Given the description of an element on the screen output the (x, y) to click on. 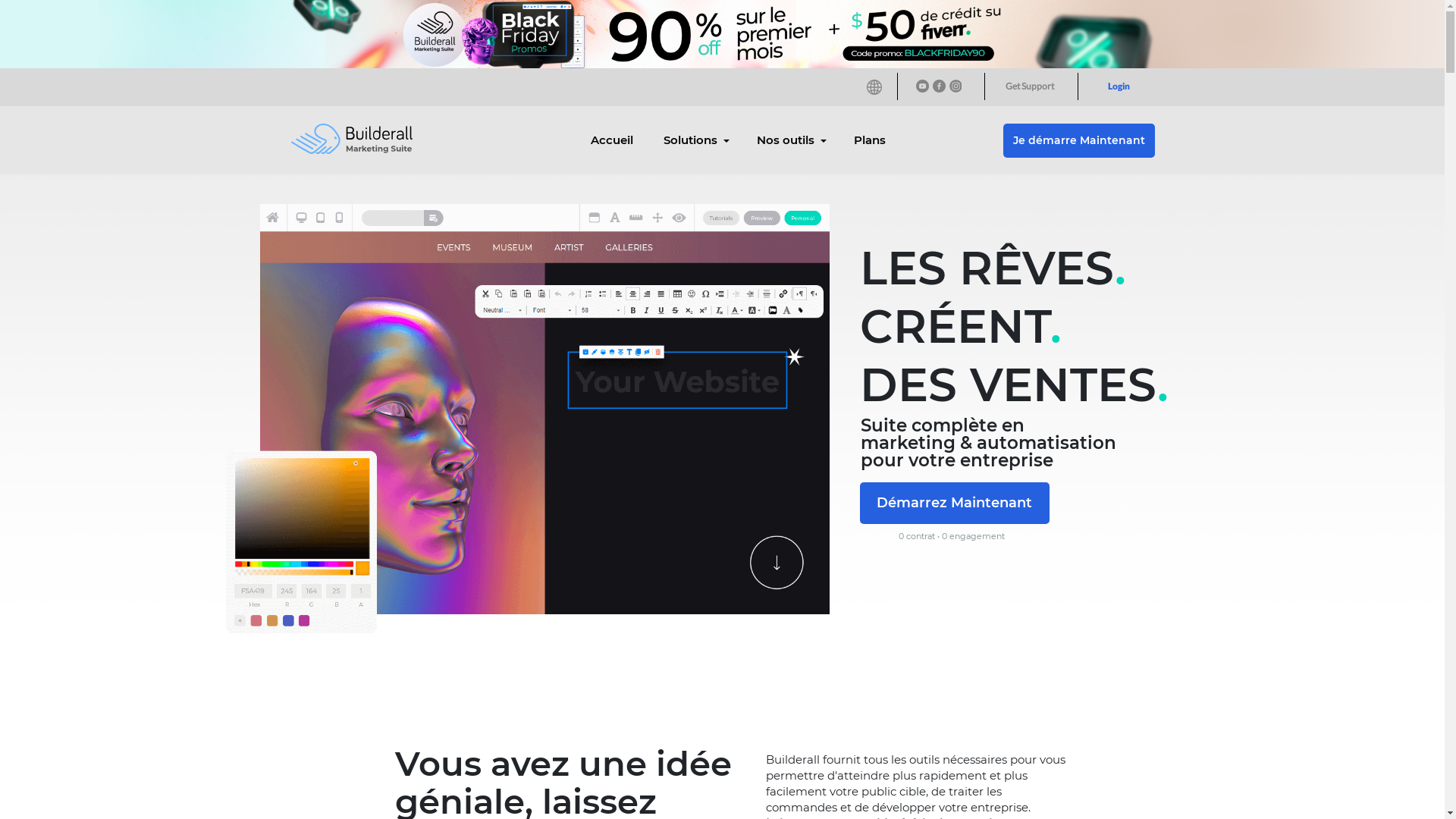
Solutions Element type: text (694, 140)
Accueil Element type: text (611, 140)
Plans Element type: text (869, 140)
Login Element type: text (1118, 86)
Get Support Element type: text (1029, 86)
Nos outils Element type: text (789, 140)
